Given the description of an element on the screen output the (x, y) to click on. 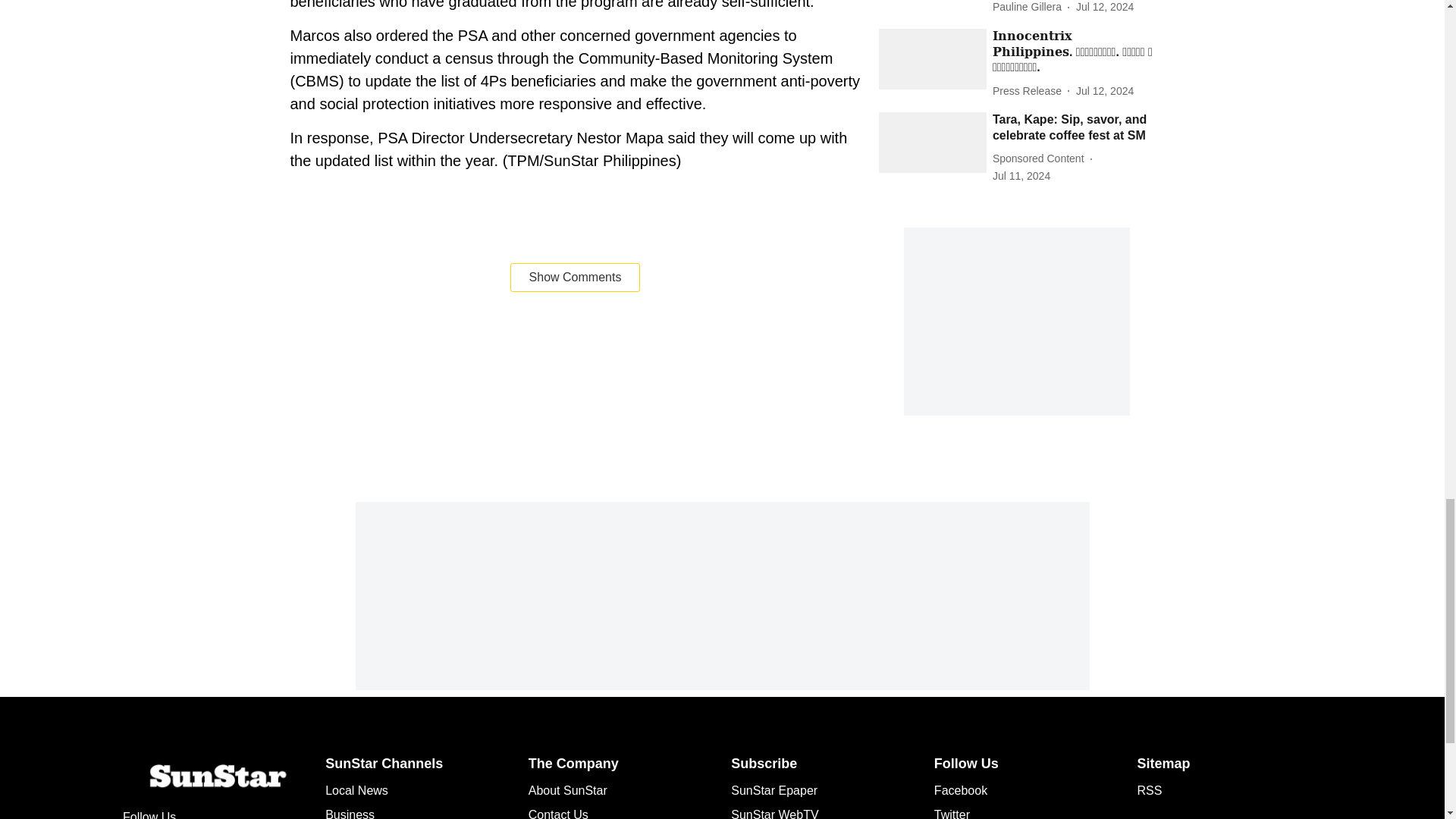
2024-07-11 00:59 (1020, 176)
2024-07-12 07:00 (1104, 7)
2024-07-12 02:00 (1104, 91)
Show Comments (575, 276)
